Given the description of an element on the screen output the (x, y) to click on. 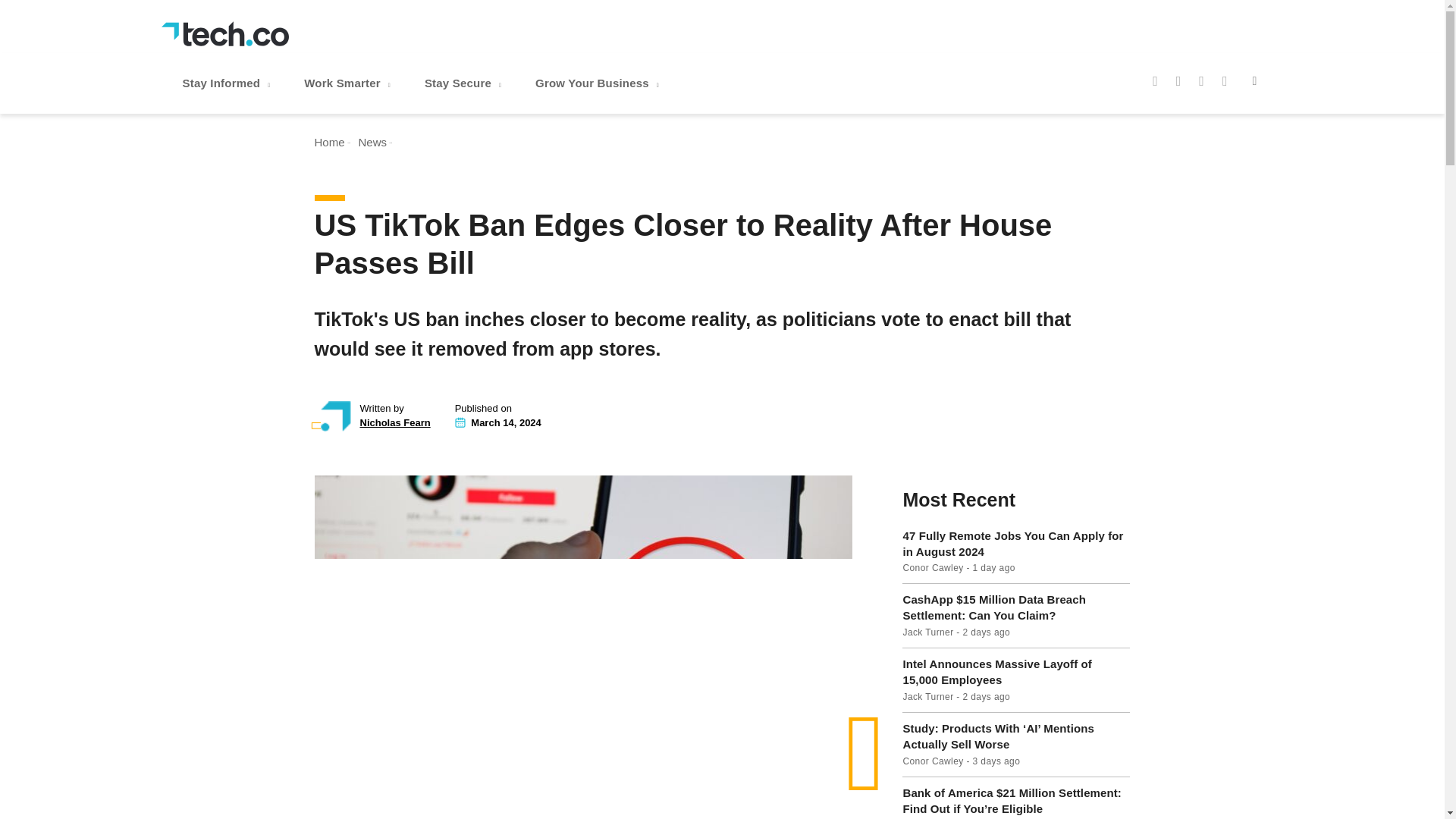
Grow Your Business (598, 83)
Work Smarter (348, 83)
Stay Informed (227, 83)
Stay Secure (464, 83)
